Given the description of an element on the screen output the (x, y) to click on. 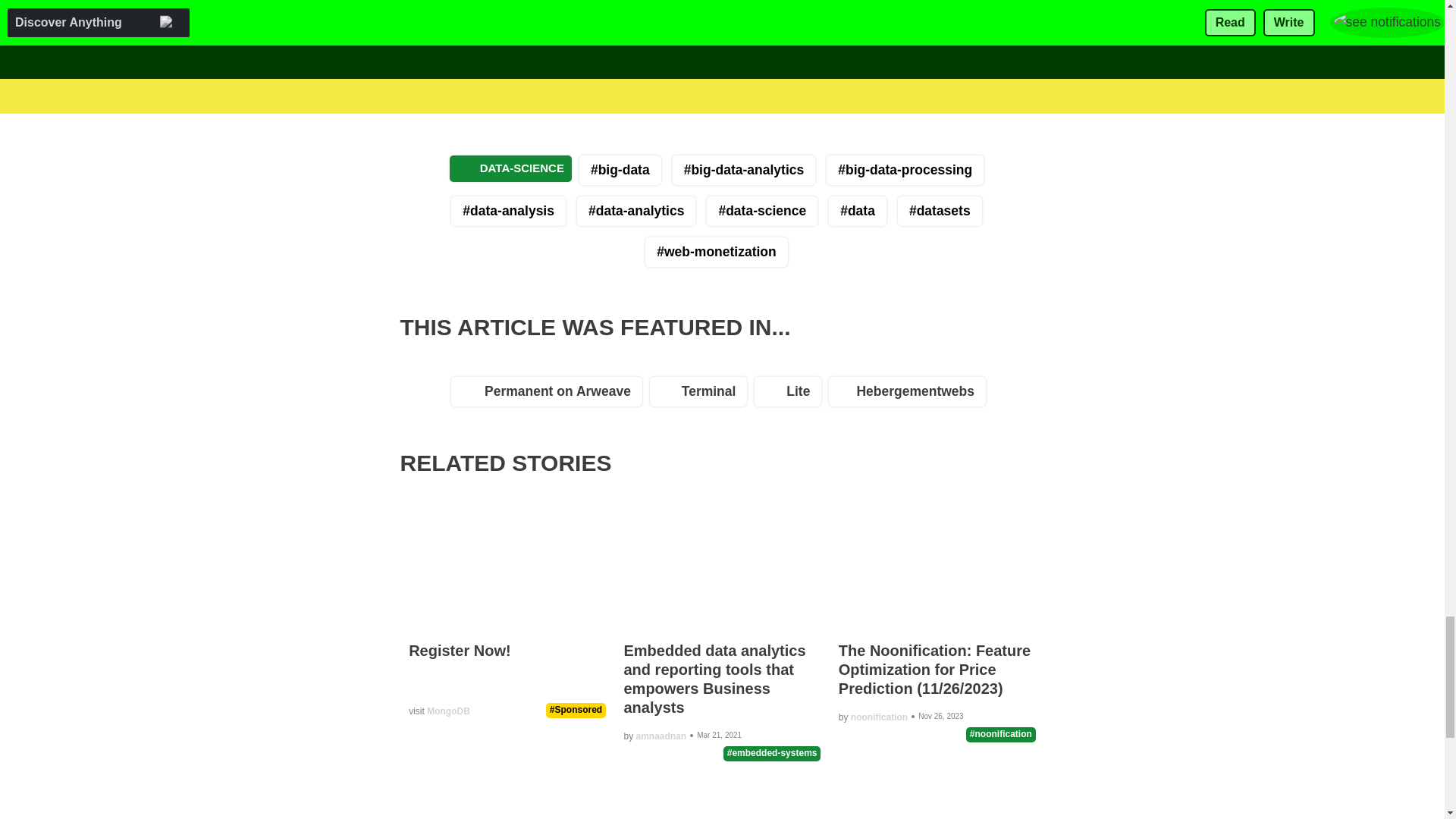
Visit My Product Site (711, 17)
 Terminal (702, 395)
 Lite (791, 395)
DATA-SCIENCE (510, 168)
Permanent on Arweave (550, 395)
Hebergementwebs (910, 395)
Read My Stories (584, 17)
